Given the description of an element on the screen output the (x, y) to click on. 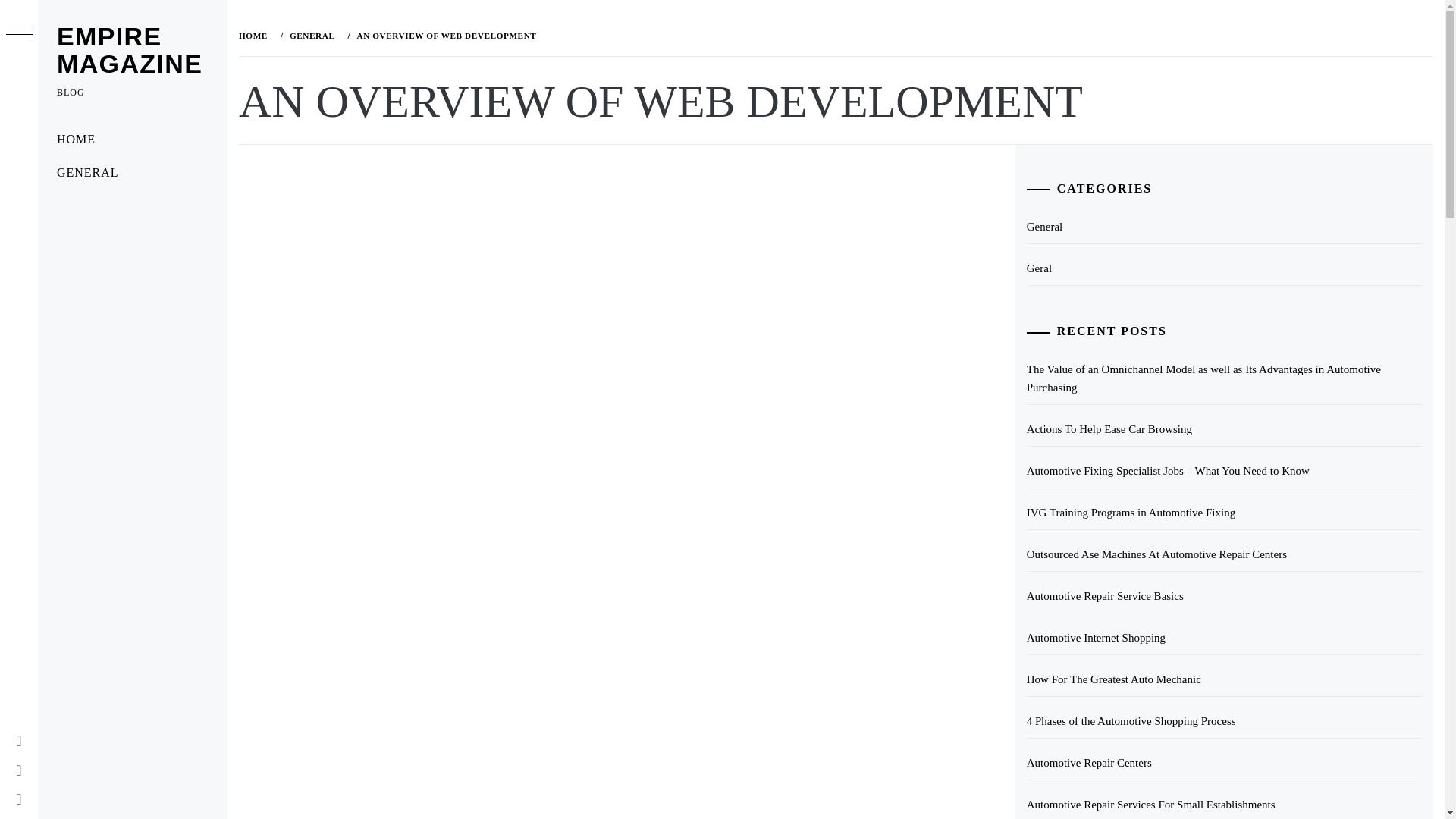
Actions To Help Ease Car Browsing (1224, 429)
GENERAL (310, 35)
IVG Training Programs in Automotive Fixing (1224, 512)
Outsourced Ase Machines At Automotive Repair Centers (1224, 554)
HOME (132, 139)
General (1224, 226)
AN OVERVIEW OF WEB DEVELOPMENT (444, 35)
EMPIRE MAGAZINE (129, 49)
Automotive Repair Service Basics (1224, 596)
GENERAL (132, 172)
